Given the description of an element on the screen output the (x, y) to click on. 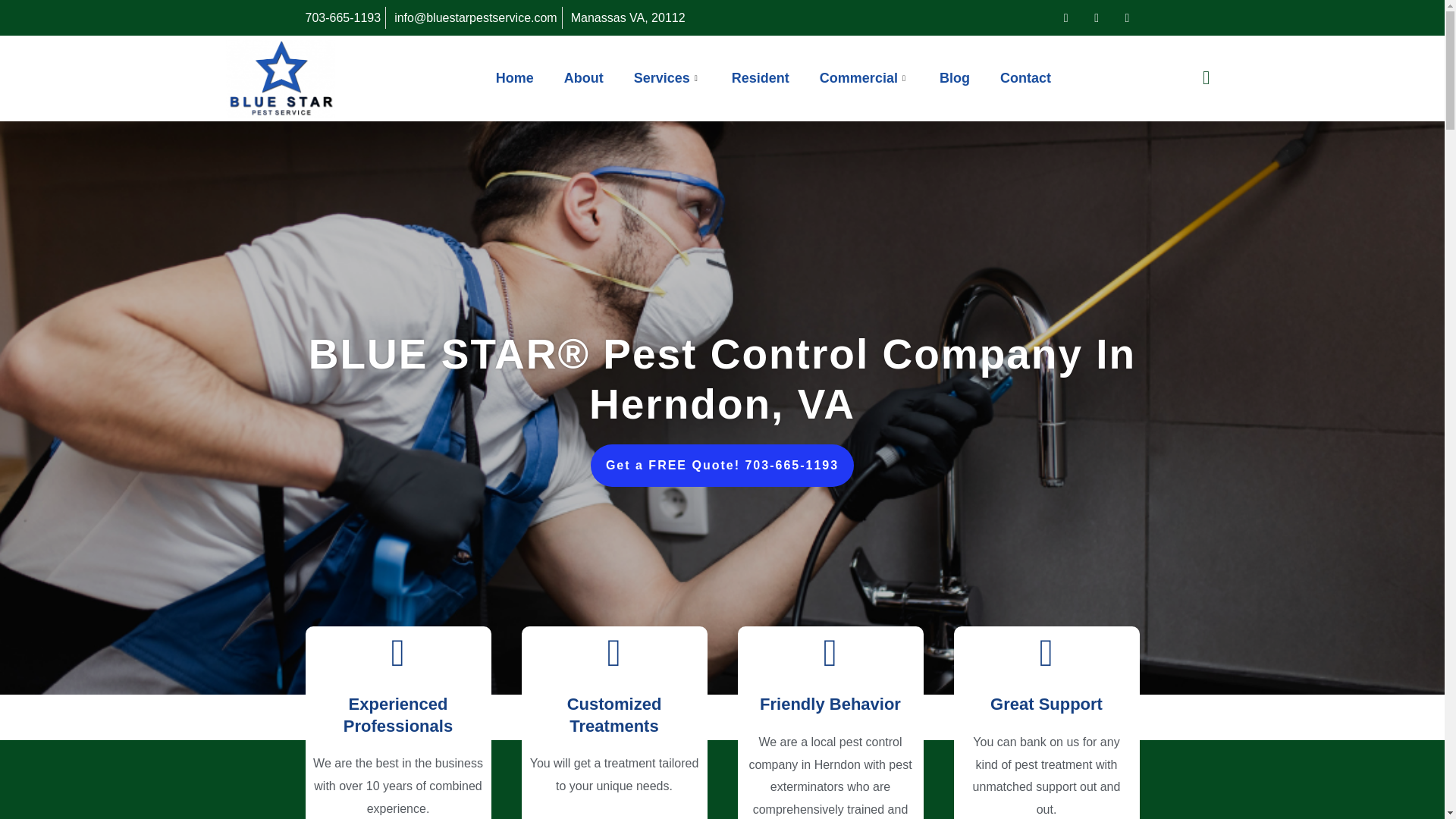
703-665-1193 (341, 17)
Blog (954, 77)
Contact (1025, 77)
About (583, 77)
Get a FREE Quote! 703-665-1193 (722, 465)
Services (667, 77)
Home (514, 77)
Resident (760, 77)
Commercial (864, 77)
